Given the description of an element on the screen output the (x, y) to click on. 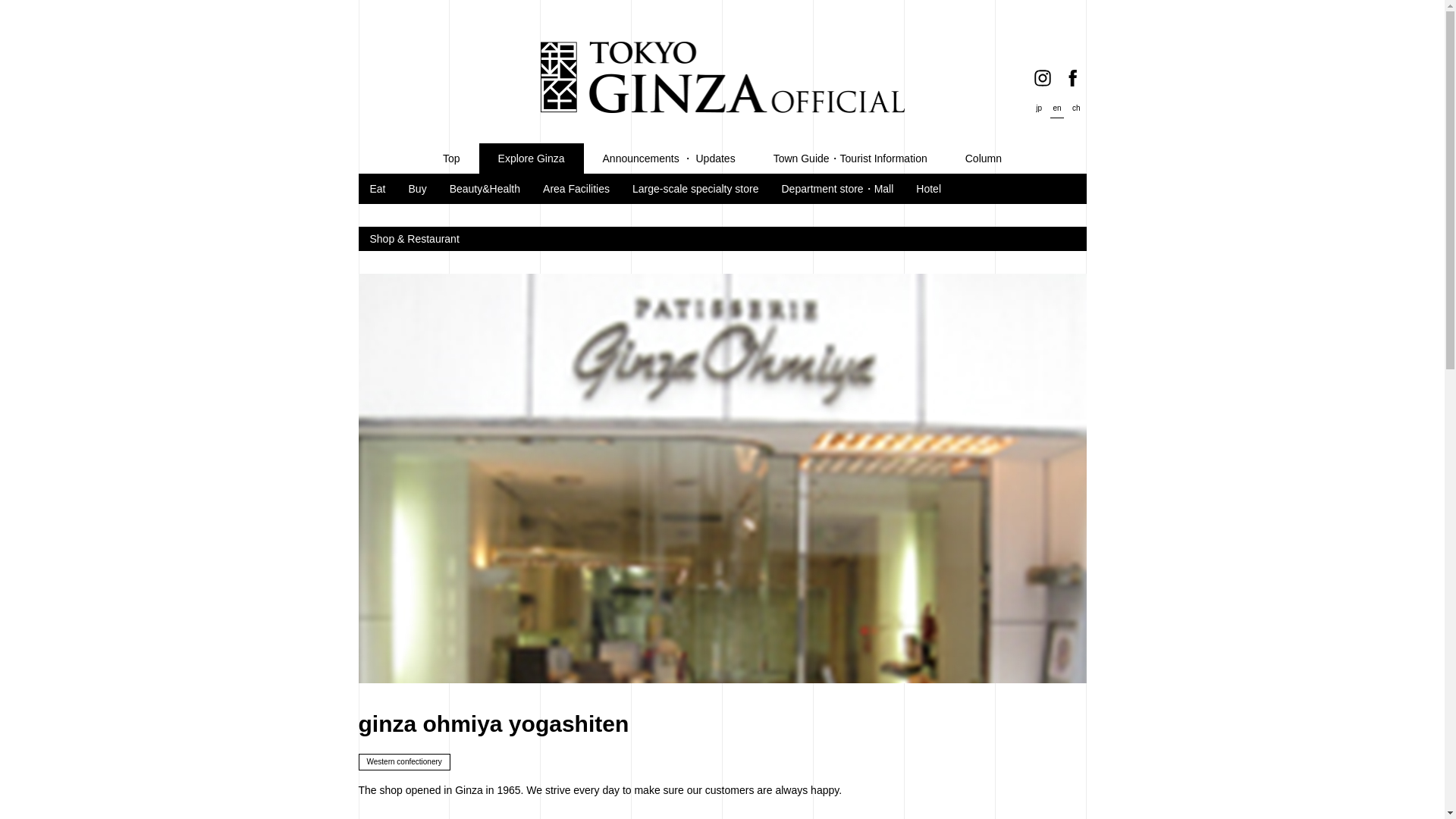
Area Facilities (576, 188)
Buy (417, 188)
Eat (377, 188)
Large-scale specialty store (694, 188)
Hotel (927, 188)
